Given the description of an element on the screen output the (x, y) to click on. 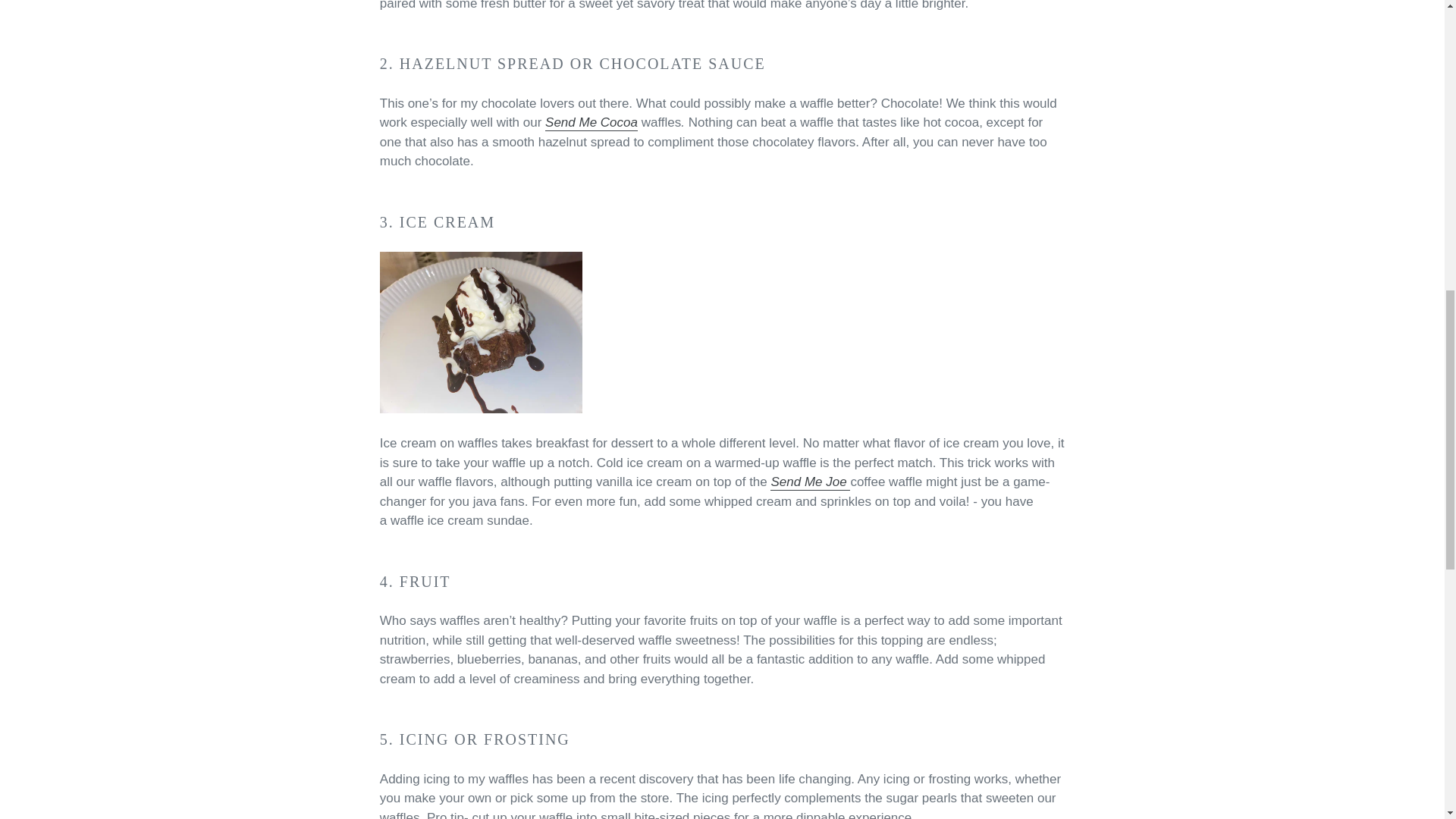
Send Me Cocoa Chocolate Waffle (590, 123)
Send Me Joe Coffee Flavored Waffle (810, 482)
